Given the description of an element on the screen output the (x, y) to click on. 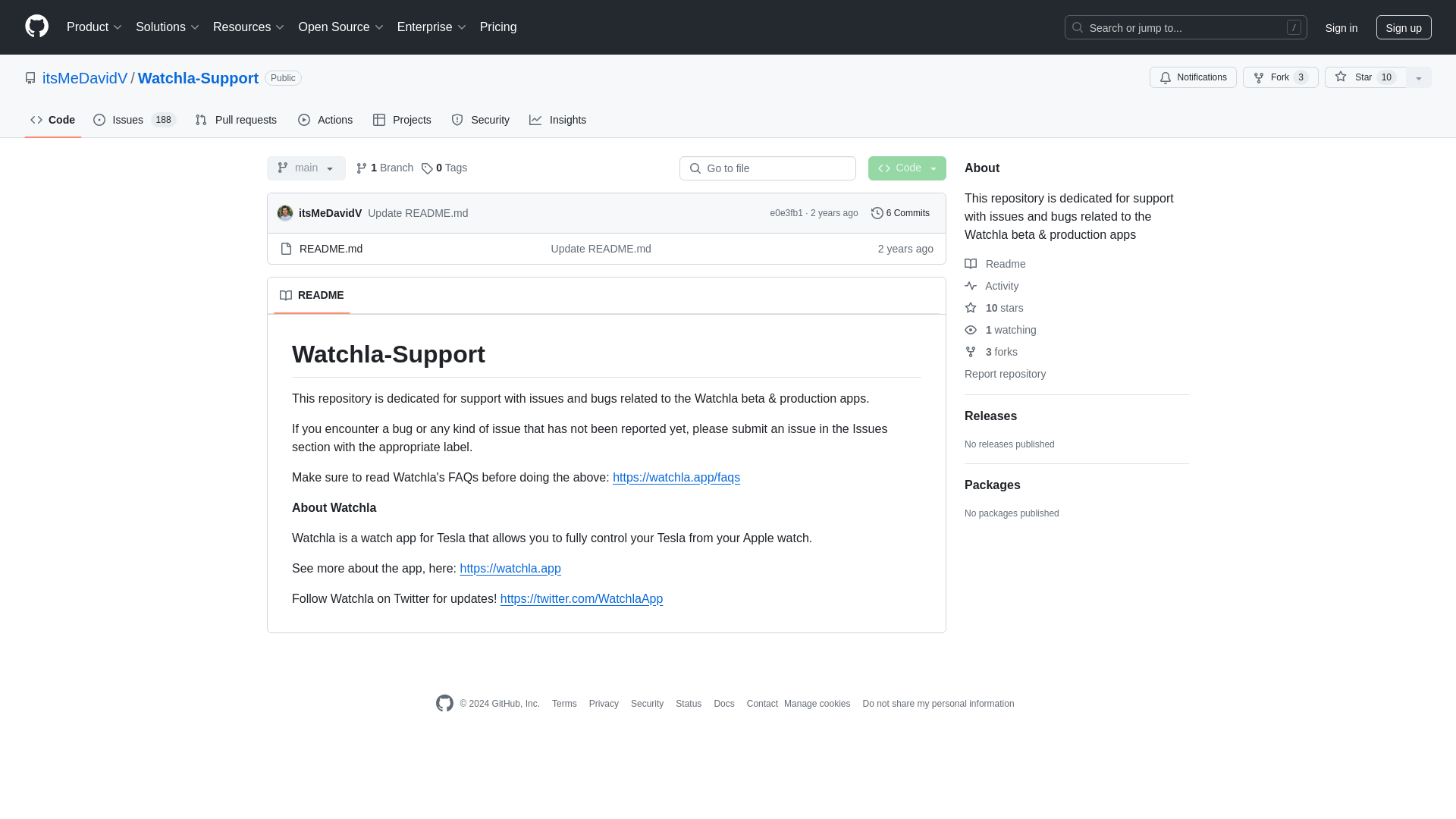
README.md (330, 248)
GitHub (443, 703)
188 (163, 119)
Solutions (167, 27)
Open Source (341, 27)
Resources (249, 27)
Product (95, 27)
3 (1300, 77)
Update README.md (600, 248)
10 (1385, 77)
